Given the description of an element on the screen output the (x, y) to click on. 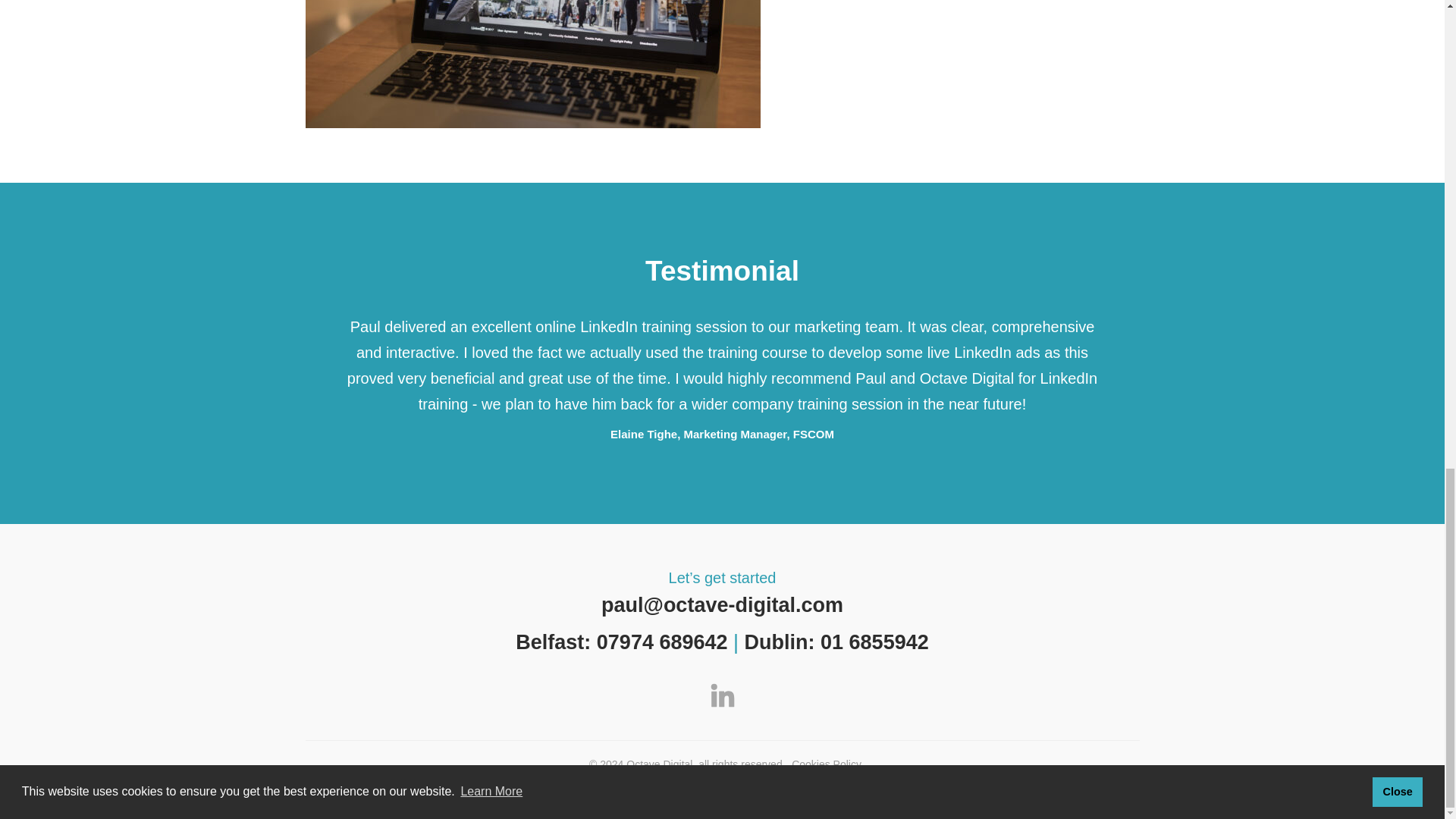
Linkedin (721, 694)
07974 689642 (662, 641)
Linkedin (721, 705)
Cookies Policy (826, 764)
01 6855942 (874, 641)
